Given the description of an element on the screen output the (x, y) to click on. 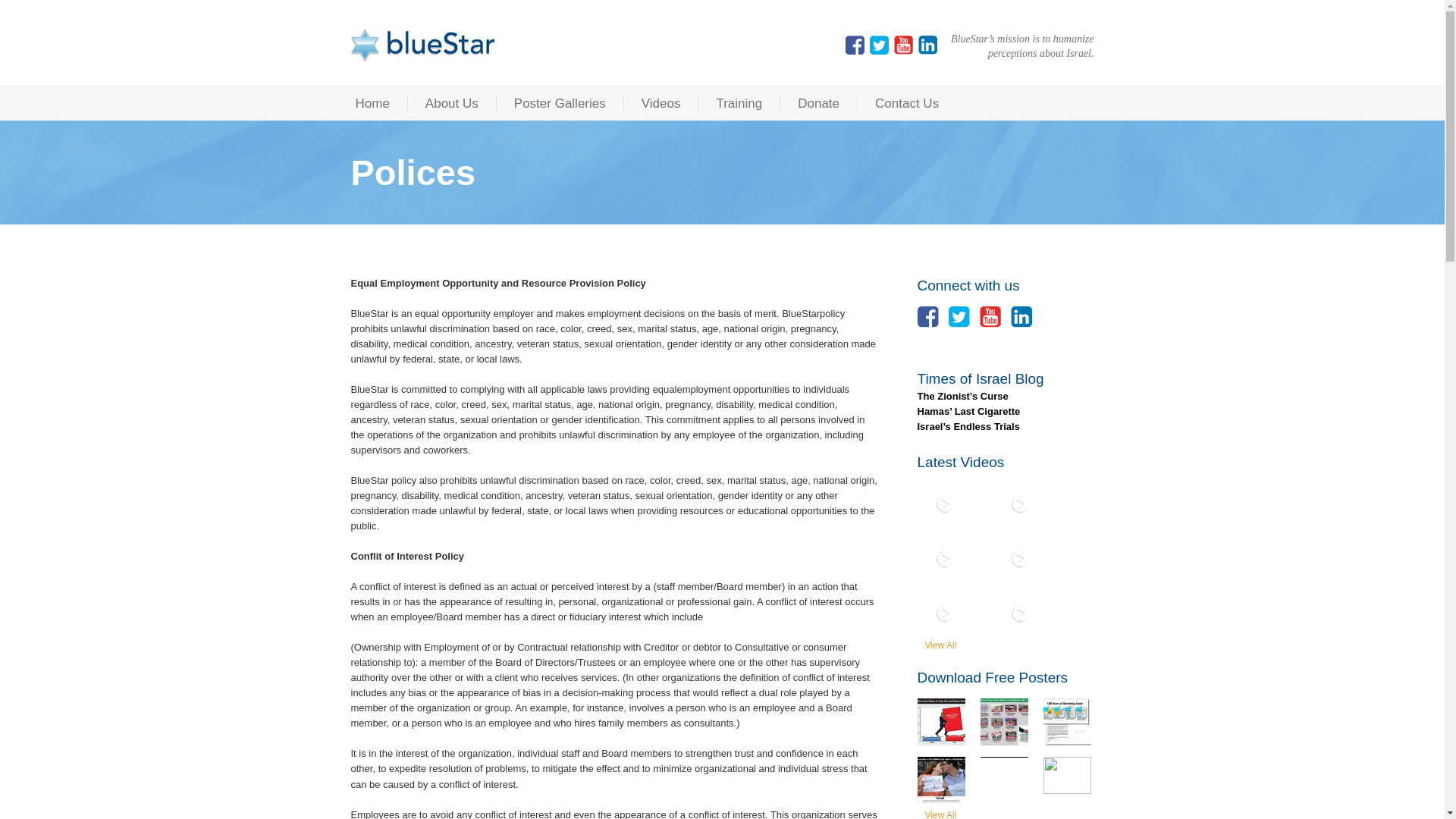
Videos (661, 103)
About Us (452, 103)
Poster Galleries (559, 103)
Donate (818, 103)
View All (937, 814)
Contact Us (907, 103)
BlueStar (422, 45)
Training (738, 103)
Home (371, 103)
View All (937, 644)
